Given the description of an element on the screen output the (x, y) to click on. 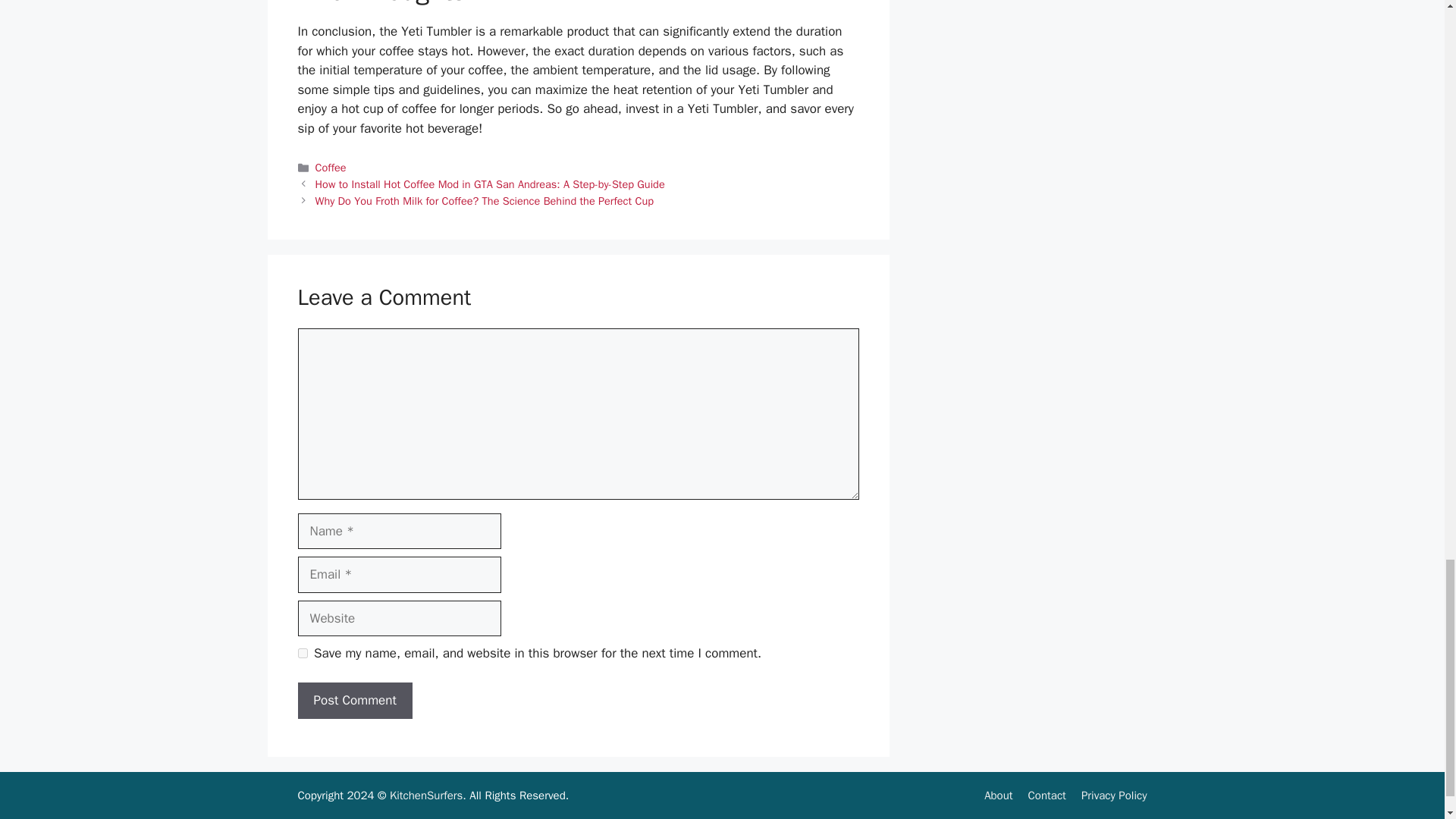
Post Comment (354, 700)
KitchenSurfers (426, 795)
Post Comment (354, 700)
Privacy Policy (1114, 795)
Contact (1046, 795)
Coffee (330, 167)
yes (302, 653)
About (997, 795)
